Given the description of an element on the screen output the (x, y) to click on. 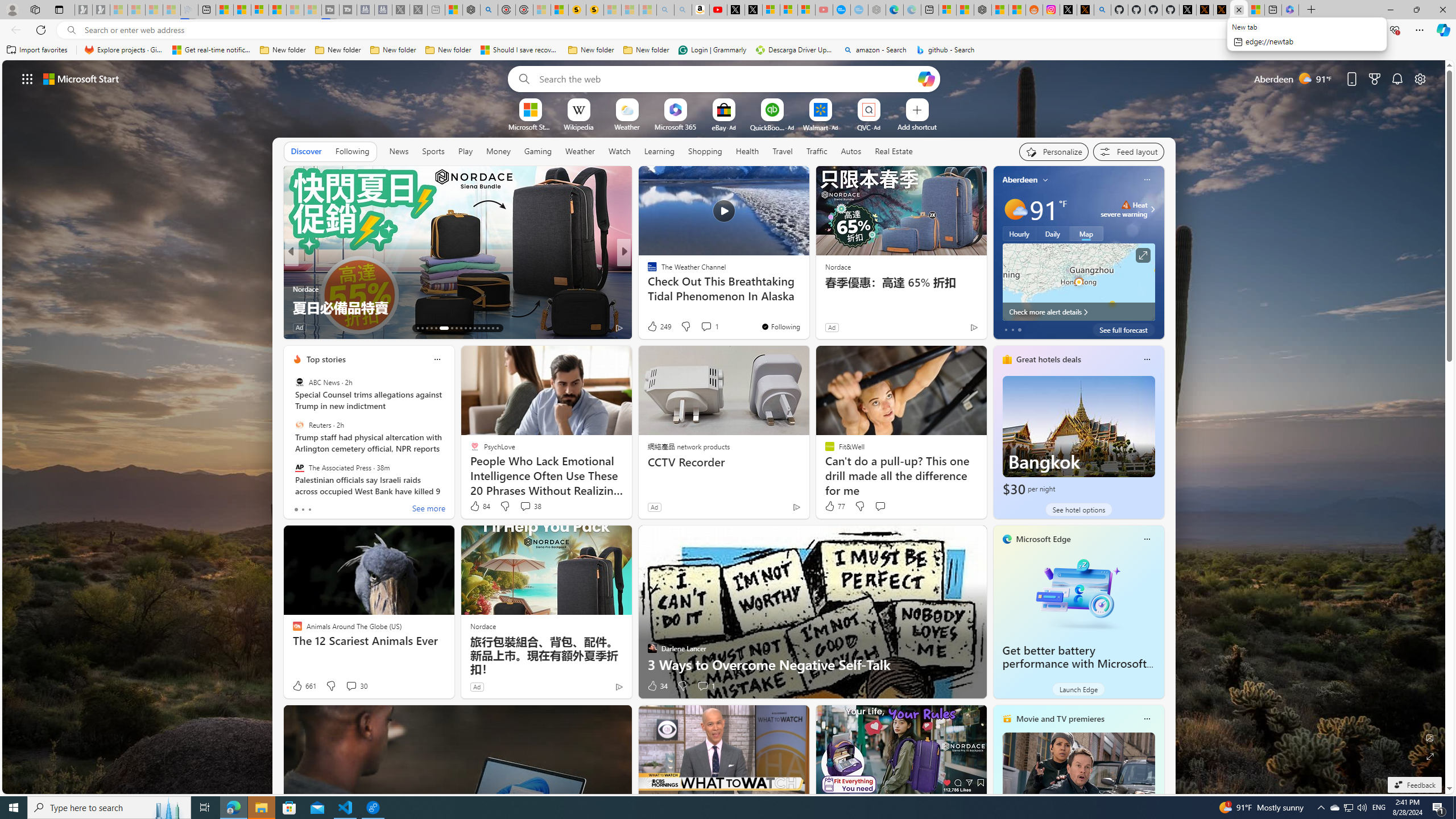
View comments 2 Comment (697, 327)
How to back up and wipe your Windows PC (807, 307)
Split screen (1344, 29)
60 Like (303, 327)
Newsletter Sign Up - Sleeping (101, 9)
Copilot (Ctrl+Shift+.) (1442, 29)
Click to see more information (1142, 255)
30 Like (652, 327)
View comments 192 Comment (703, 327)
Heat - Severe (1126, 204)
Nordace (483, 625)
Top stories (325, 359)
Dislike (682, 685)
X Privacy Policy (1221, 9)
